Given the description of an element on the screen output the (x, y) to click on. 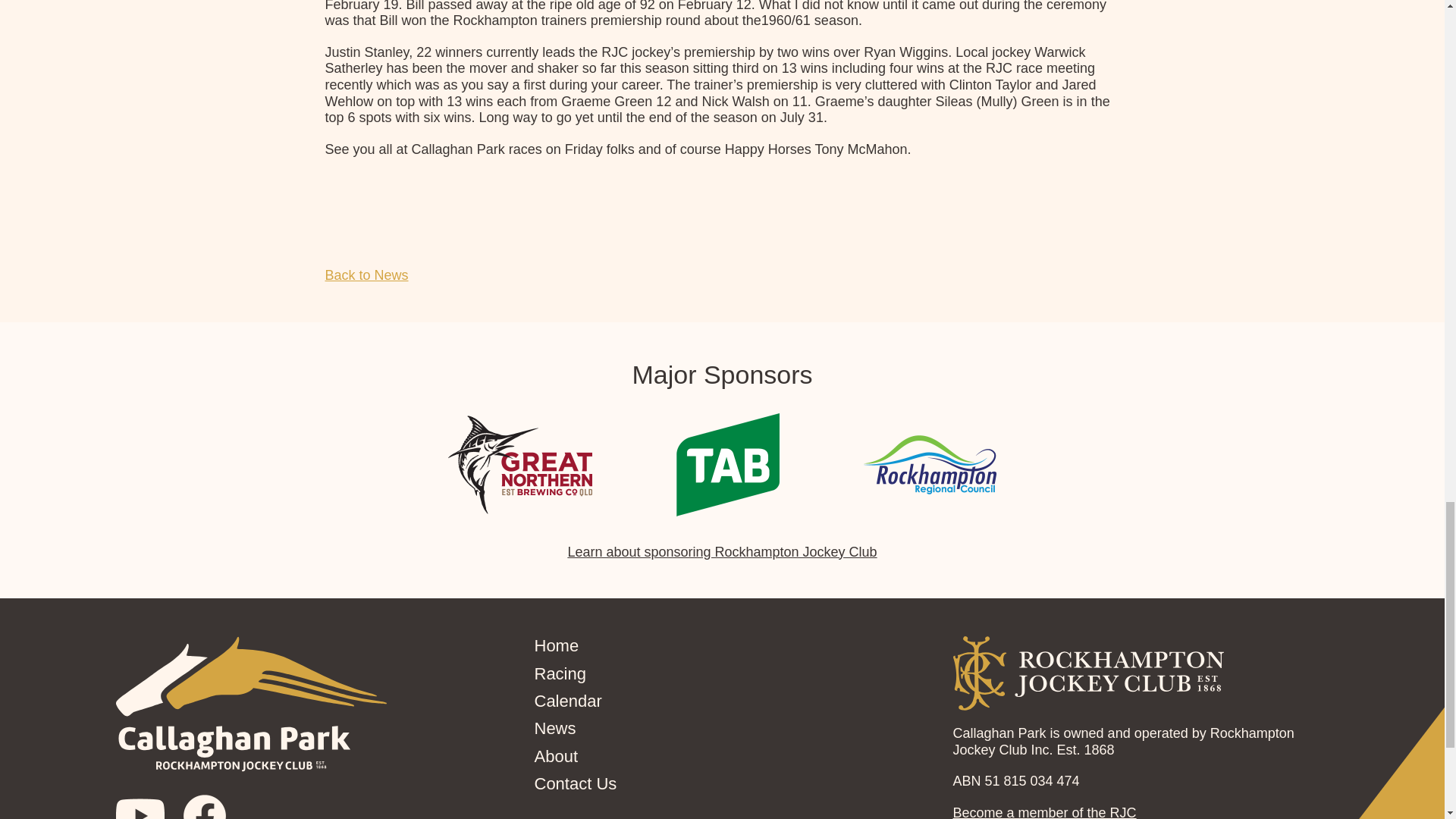
Back to News (365, 274)
